Given the description of an element on the screen output the (x, y) to click on. 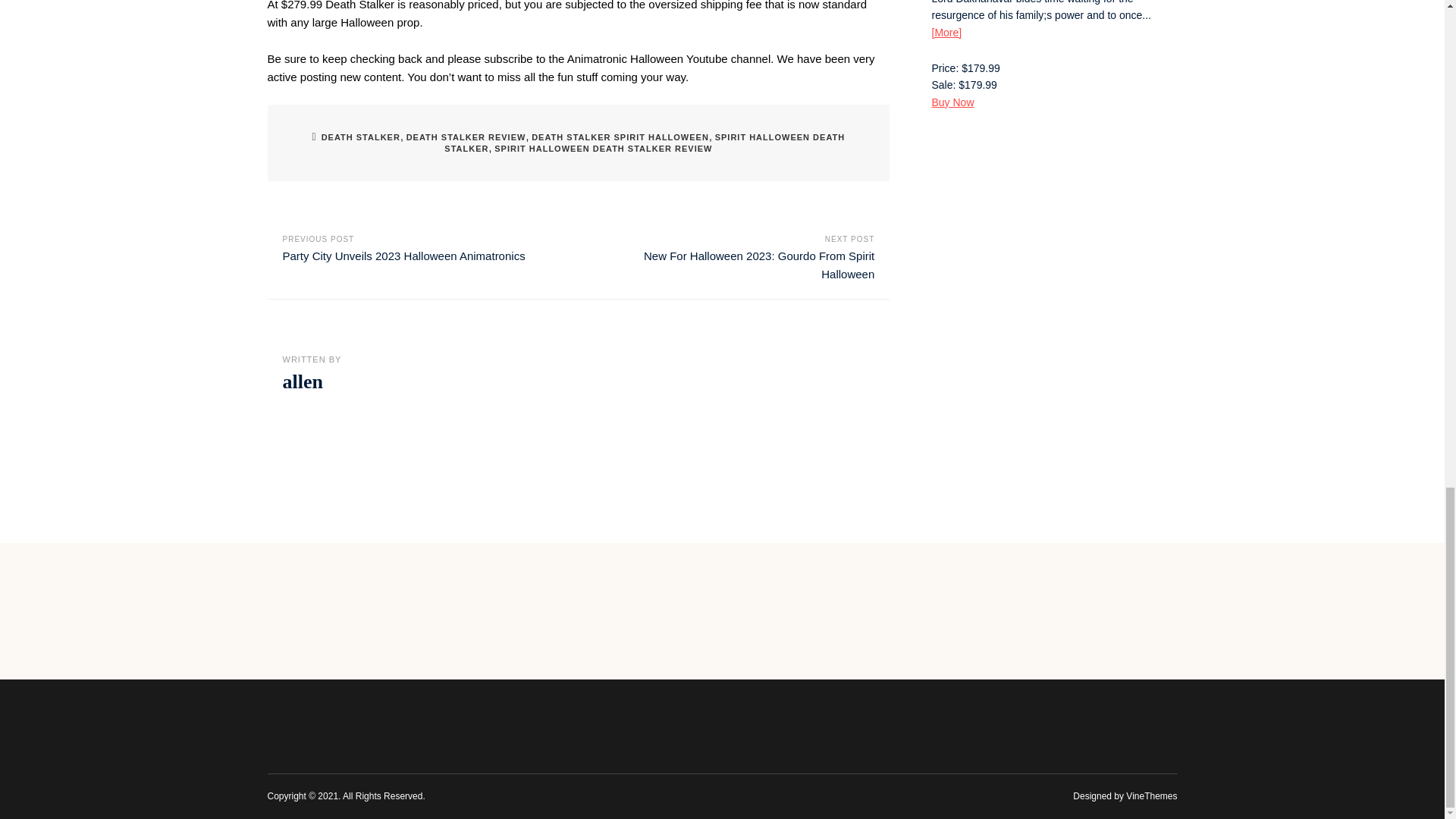
DEATH STALKER SPIRIT HALLOWEEN (620, 136)
Party City Unveils 2023 Halloween Animatronics (403, 255)
New For Halloween 2023: Gourdo From Spirit Halloween (759, 264)
SPIRIT HALLOWEEN DEATH STALKER REVIEW (603, 148)
allen (301, 382)
SPIRIT HALLOWEEN DEATH STALKER (644, 142)
DEATH STALKER REVIEW (465, 136)
DEATH STALKER (360, 136)
Buy Now (952, 102)
VineThemes (1150, 796)
